Given the description of an element on the screen output the (x, y) to click on. 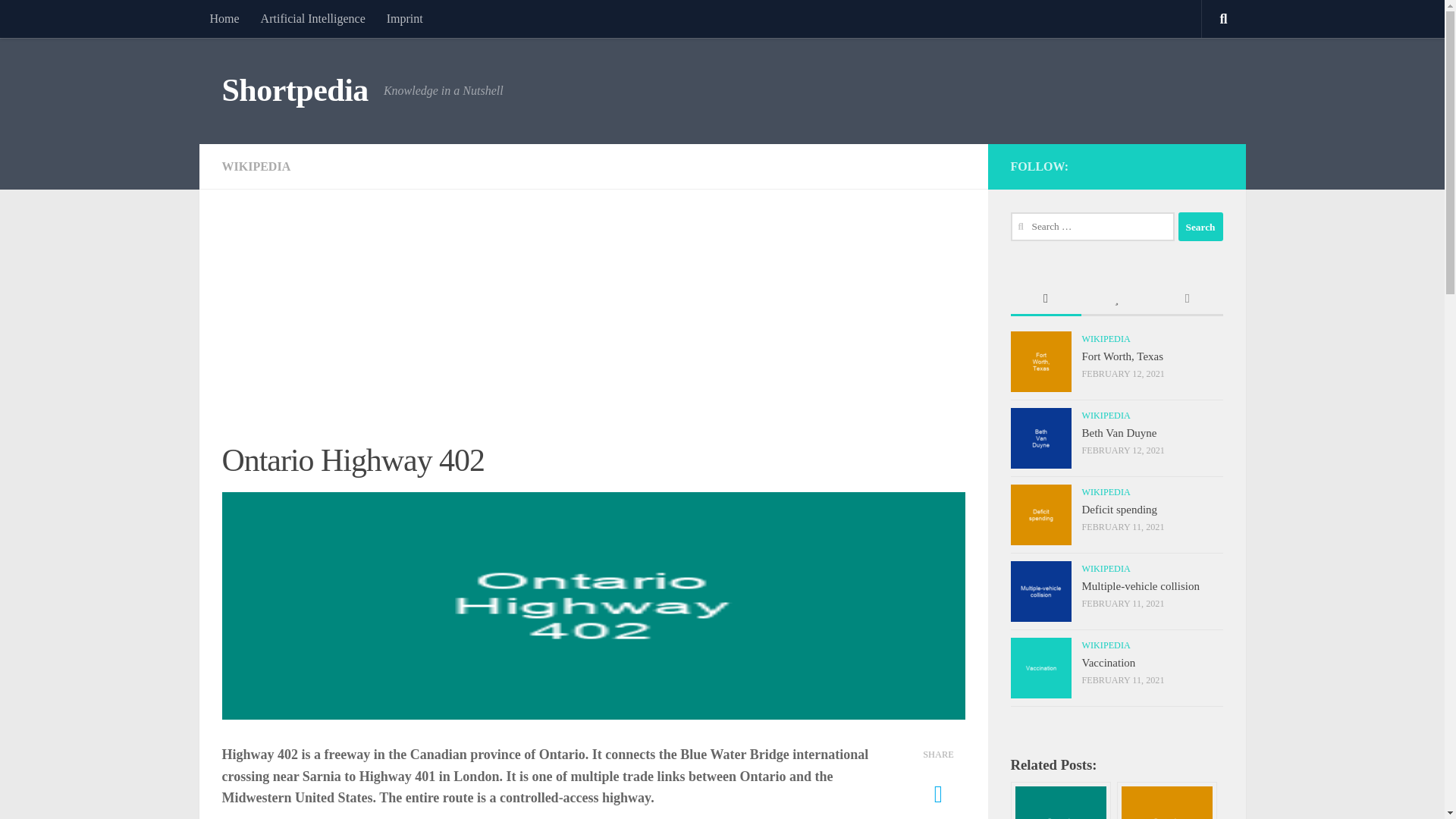
Skip to content (59, 20)
Imprint (404, 18)
WIKIPEDIA (1105, 491)
Artificial Intelligence (312, 18)
Search (1200, 226)
Shortpedia (294, 90)
Beth Van Duyne (1118, 432)
WIKIPEDIA (1105, 338)
Fort Worth, Texas (1122, 356)
Search (1200, 226)
Home (223, 18)
Recent Posts (1045, 299)
WIKIPEDIA (255, 165)
Popular Posts (1116, 299)
